Given the description of an element on the screen output the (x, y) to click on. 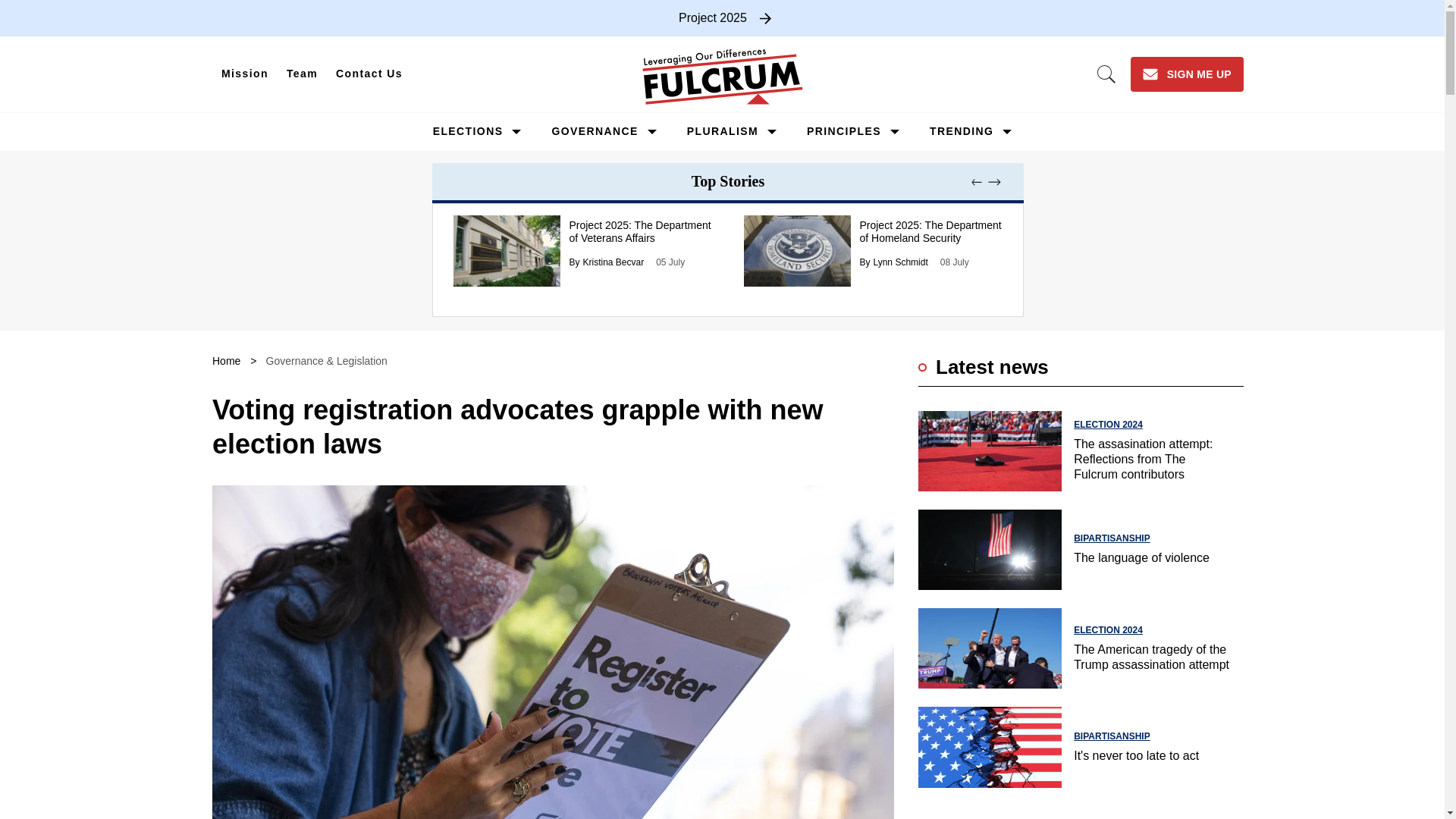
Open Search (1106, 74)
ELECTIONS (467, 131)
GOVERNANCE (594, 131)
Contact Us (369, 73)
Mission (245, 73)
SIGN ME UP (1187, 73)
Team (302, 73)
Open Search (1106, 74)
